Given the description of an element on the screen output the (x, y) to click on. 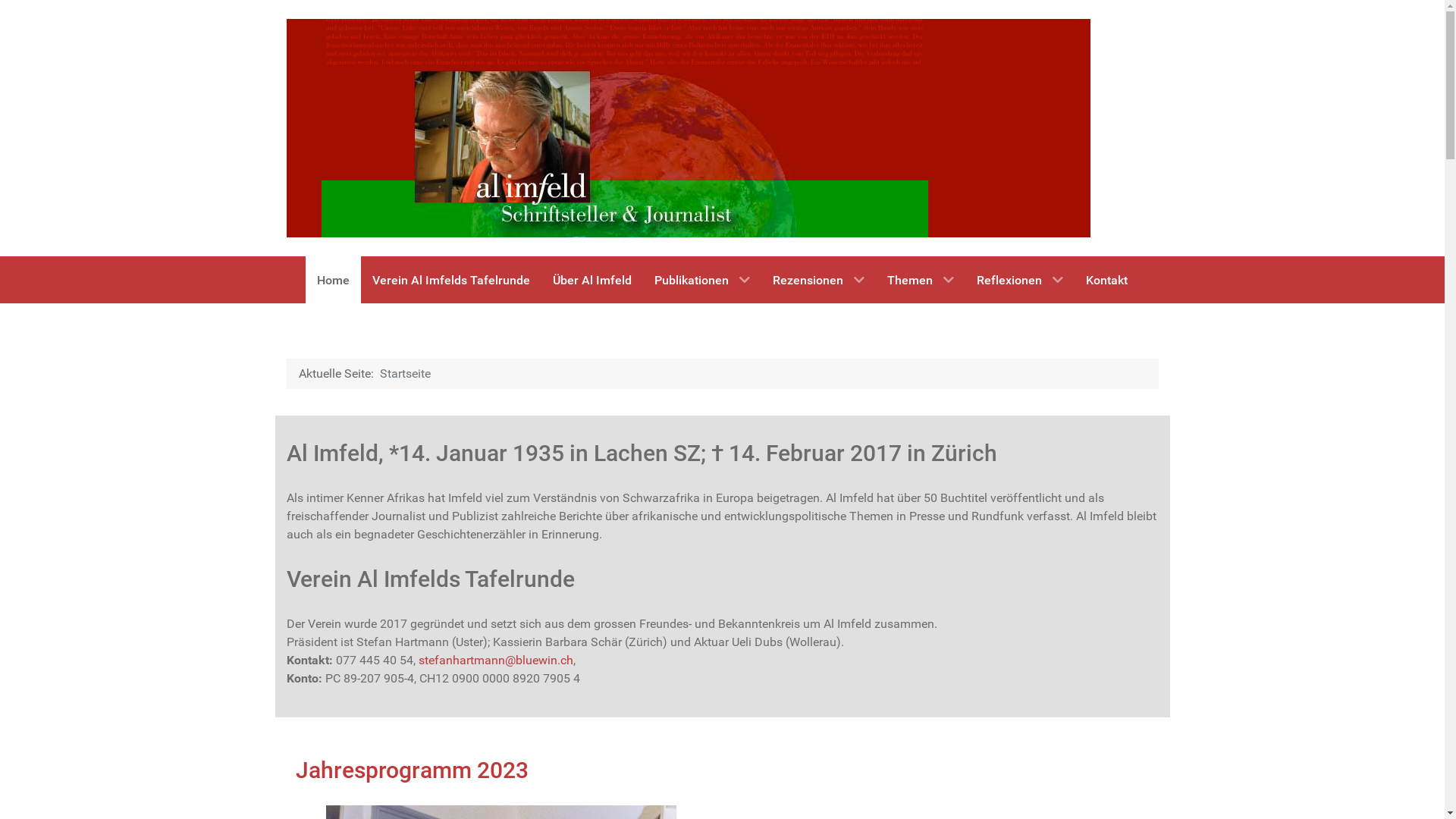
stefanhartmann@bluewin.ch Element type: text (495, 659)
Jahresprogramm 2023 Element type: text (411, 769)
Kontakt Element type: text (1106, 279)
Home Element type: text (332, 279)
Publikationen Element type: text (702, 279)
Themen Element type: text (920, 279)
Verein Al Imfelds Tafelrunde Element type: text (450, 279)
Rezensionen Element type: text (818, 279)
Reflexionen Element type: text (1019, 279)
